Given the description of an element on the screen output the (x, y) to click on. 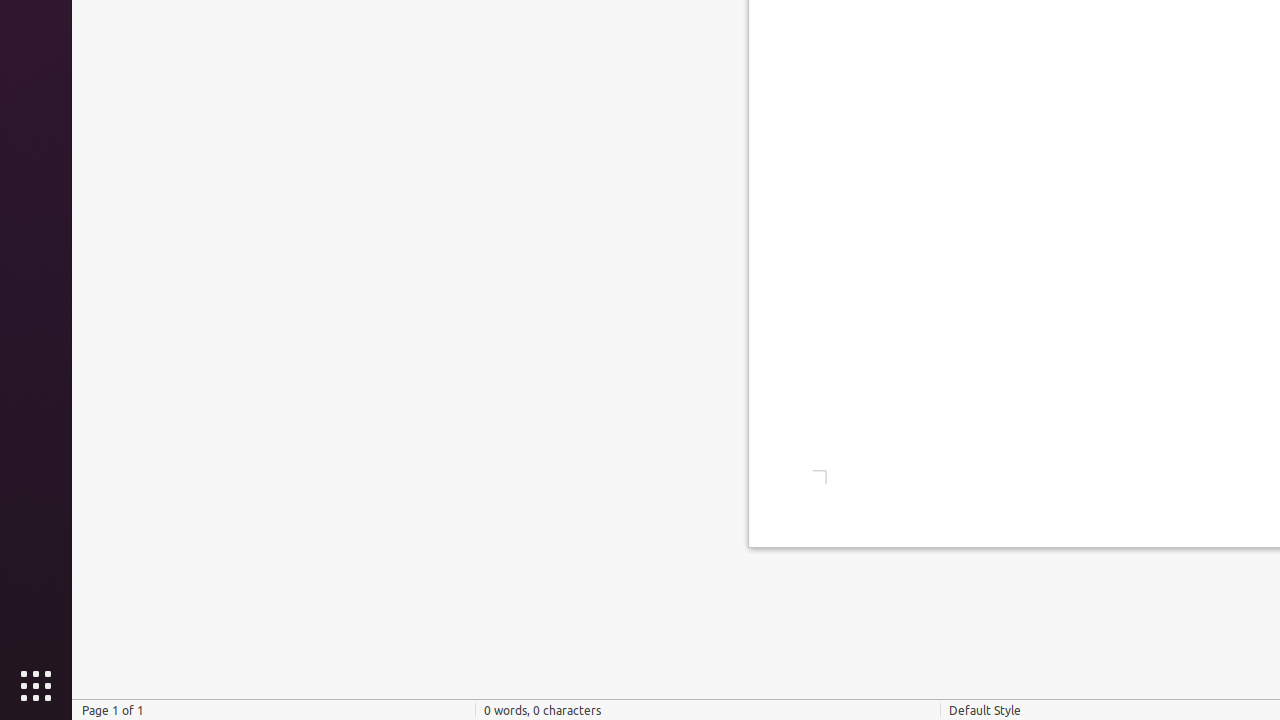
Show Applications Element type: toggle-button (36, 686)
